Given the description of an element on the screen output the (x, y) to click on. 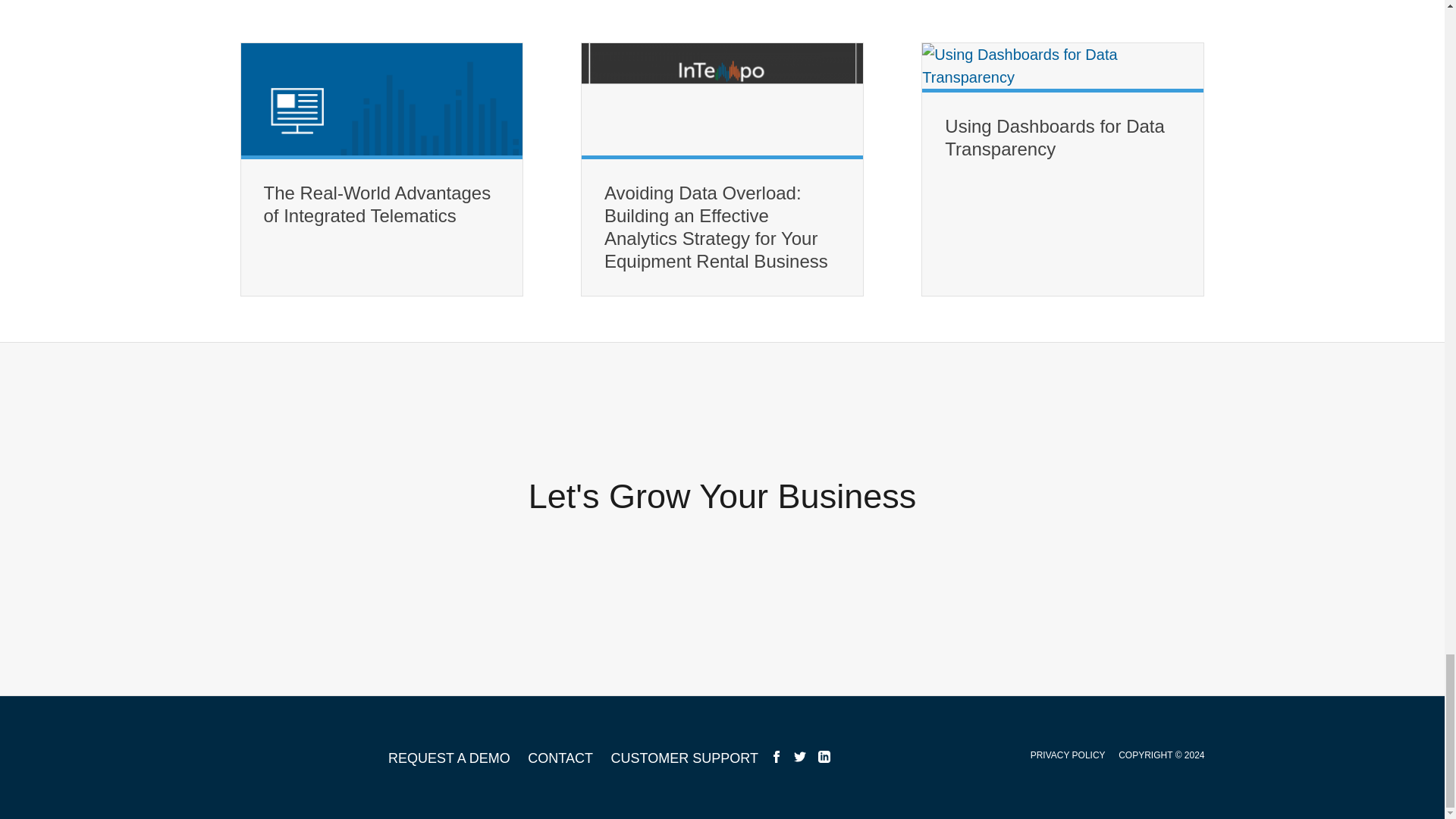
InTempo - Rental Mangement Software Solutions (304, 757)
Twitter (799, 756)
Facebook (776, 756)
LinkedIn (823, 756)
